Given the description of an element on the screen output the (x, y) to click on. 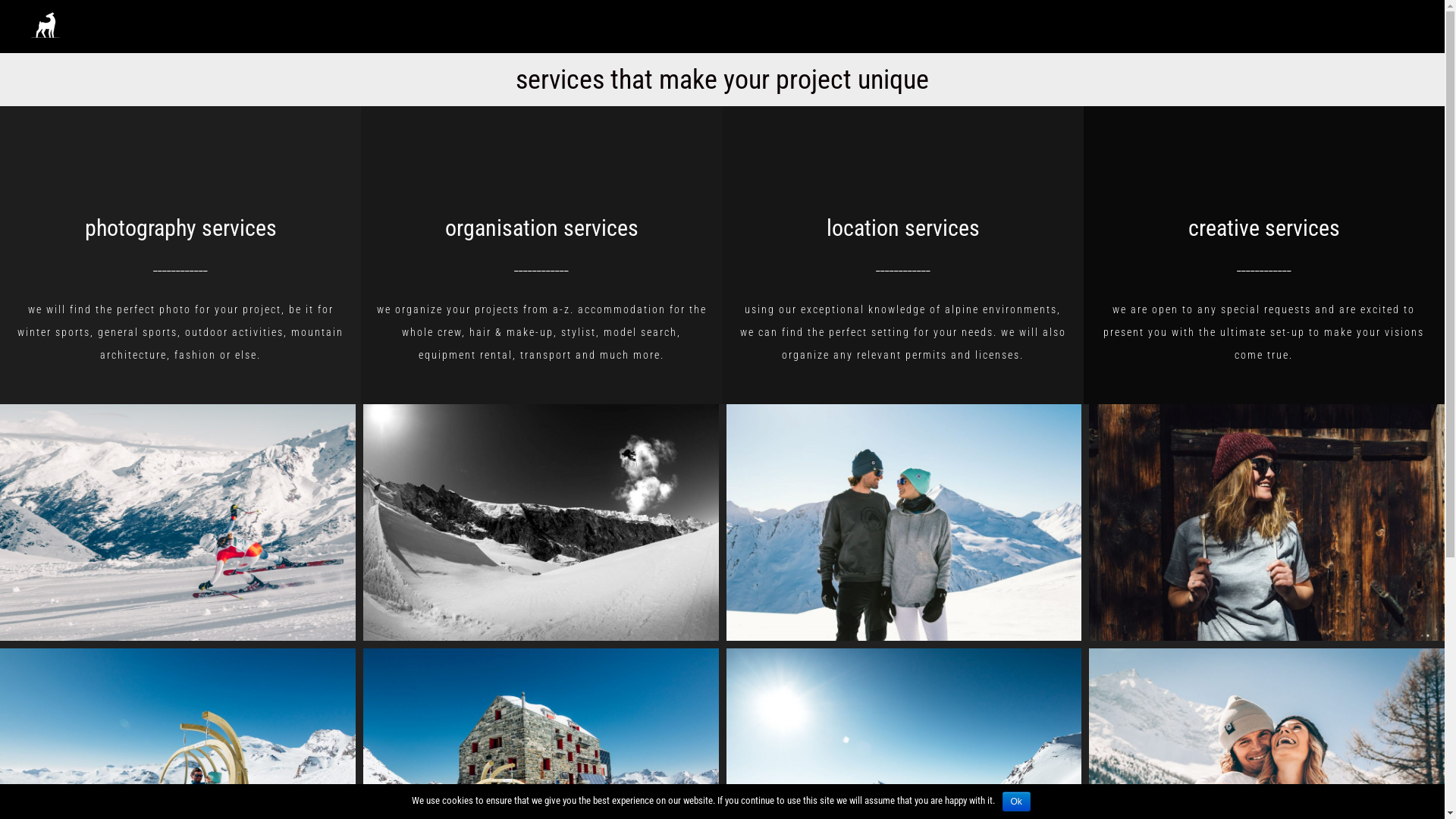
Ok Element type: text (1016, 801)
ClothingShoot2_017 Element type: hover (1266, 522)
KingSnow_SebToutant_Cannon04 Element type: hover (540, 522)
ClothingShoot2_010 Element type: hover (904, 522)
March16th_AllalinRaceDay1_003 Element type: hover (177, 522)
